Given the description of an element on the screen output the (x, y) to click on. 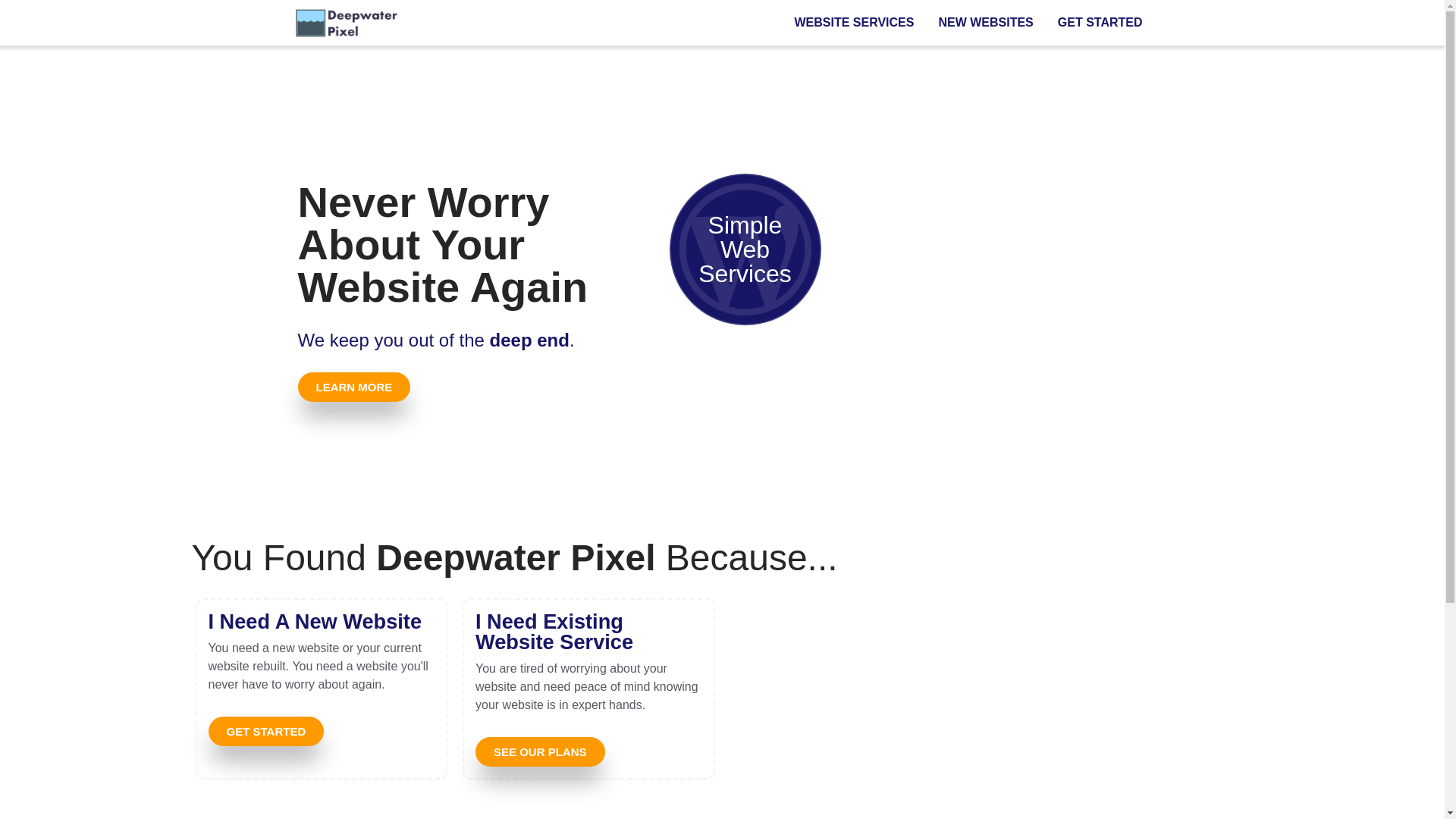
WEBSITE SERVICES (853, 22)
LEARN MORE (353, 386)
SEE OUR PLANS (540, 751)
GET STARTED (265, 731)
NEW WEBSITES (984, 22)
GET STARTED (1100, 22)
